Given the description of an element on the screen output the (x, y) to click on. 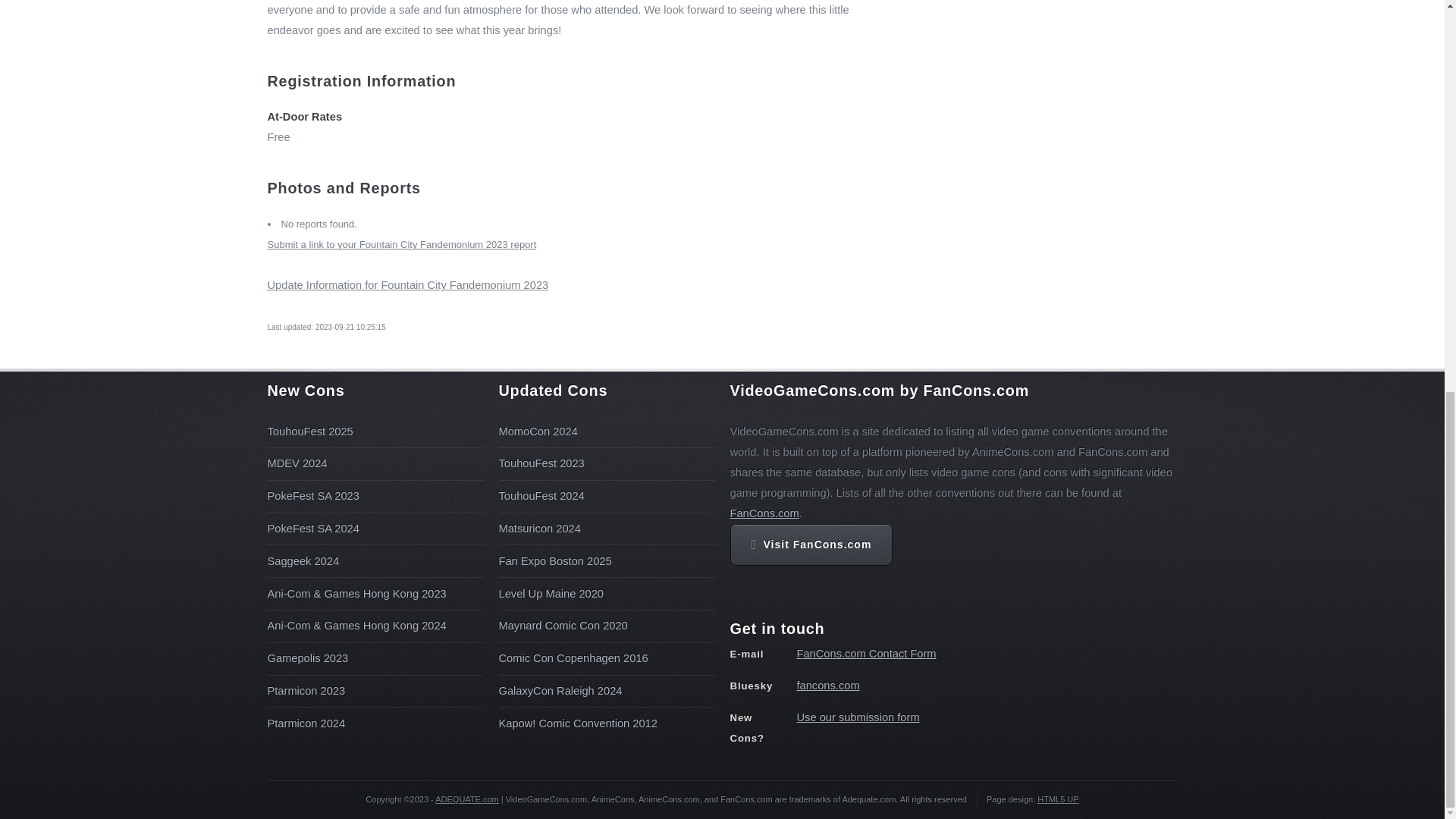
TouhouFest 2023 (542, 463)
Fan Expo Boston 2025 (555, 561)
MDEV 2024 (296, 463)
TouhouFest 2024 (542, 495)
TouhouFest 2025 (309, 431)
Ptarmicon 2023 (305, 690)
Submit a link to your Fountain City Fandemonium 2023 report (400, 244)
Level Up Maine 2020 (551, 593)
MomoCon 2024 (538, 431)
Saggeek 2024 (302, 561)
Matsuricon 2024 (539, 528)
PokeFest SA 2024 (312, 528)
Ptarmicon 2024 (305, 723)
Update Information for Fountain City Fandemonium 2023 (407, 285)
Maynard Comic Con 2020 (563, 625)
